Given the description of an element on the screen output the (x, y) to click on. 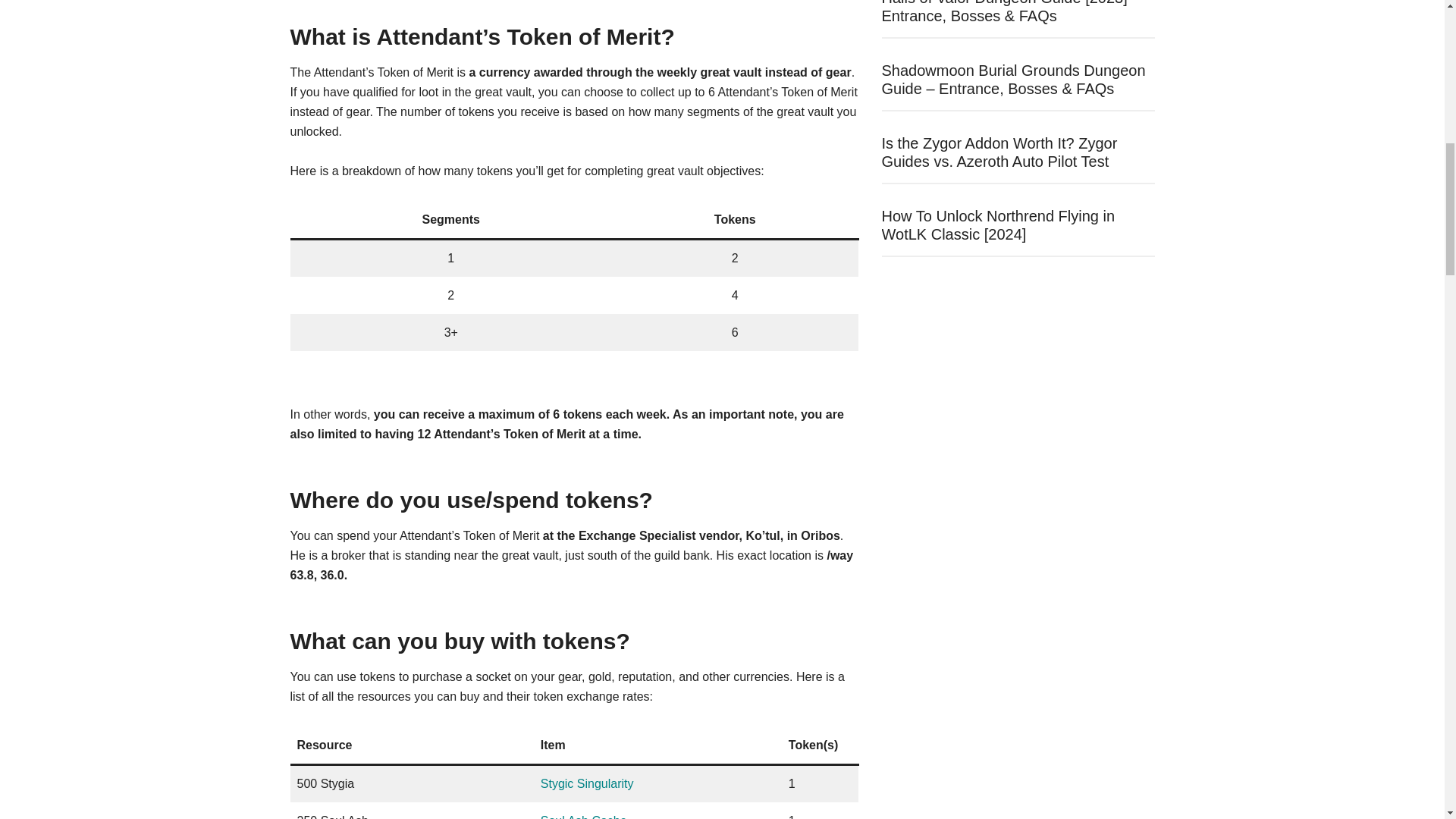
Stygic Singularity (586, 783)
Soul Ash Cache (583, 816)
